Given the description of an element on the screen output the (x, y) to click on. 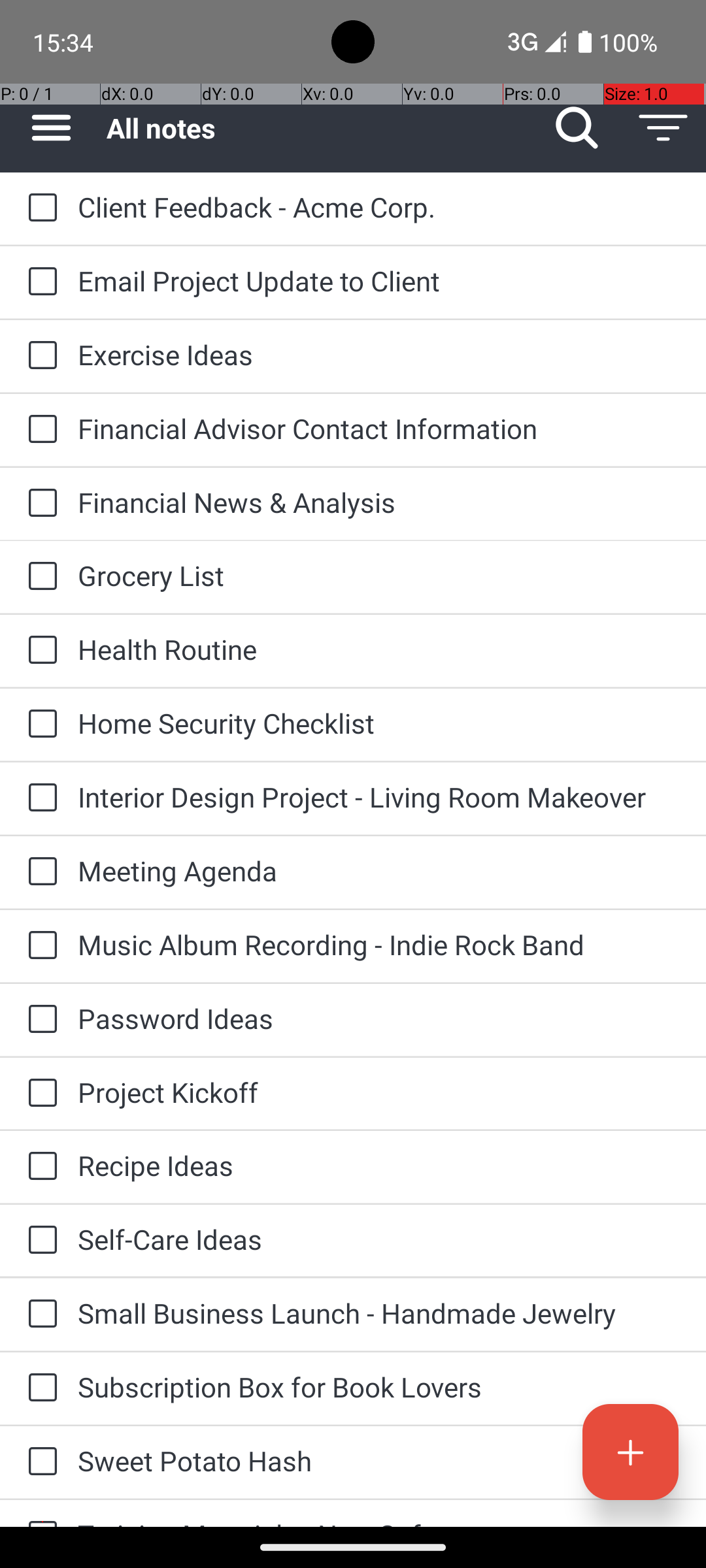
to-do: Client Feedback - Acme Corp. Element type: android.widget.CheckBox (38, 208)
Client Feedback - Acme Corp. Element type: android.widget.TextView (378, 206)
to-do: Email Project Update to Client Element type: android.widget.CheckBox (38, 282)
Email Project Update to Client Element type: android.widget.TextView (378, 280)
to-do: Exercise Ideas Element type: android.widget.CheckBox (38, 356)
Exercise Ideas Element type: android.widget.TextView (378, 354)
to-do: Financial Advisor Contact Information Element type: android.widget.CheckBox (38, 429)
Financial Advisor Contact Information Element type: android.widget.TextView (378, 427)
to-do: Financial News & Analysis Element type: android.widget.CheckBox (38, 503)
Financial News & Analysis Element type: android.widget.TextView (378, 501)
to-do: Grocery List Element type: android.widget.CheckBox (38, 576)
Grocery List Element type: android.widget.TextView (378, 574)
to-do: Health Routine Element type: android.widget.CheckBox (38, 650)
Health Routine Element type: android.widget.TextView (378, 648)
to-do: Home Security Checklist Element type: android.widget.CheckBox (38, 724)
Home Security Checklist Element type: android.widget.TextView (378, 722)
to-do: Interior Design Project - Living Room Makeover Element type: android.widget.CheckBox (38, 798)
Interior Design Project - Living Room Makeover Element type: android.widget.TextView (378, 796)
to-do: Meeting Agenda Element type: android.widget.CheckBox (38, 872)
Meeting Agenda Element type: android.widget.TextView (378, 870)
to-do: Music Album Recording - Indie Rock Band Element type: android.widget.CheckBox (38, 945)
Music Album Recording - Indie Rock Band Element type: android.widget.TextView (378, 944)
to-do: Password Ideas Element type: android.widget.CheckBox (38, 1019)
Password Ideas Element type: android.widget.TextView (378, 1017)
to-do: Project Kickoff Element type: android.widget.CheckBox (38, 1093)
Project Kickoff Element type: android.widget.TextView (378, 1091)
to-do: Recipe Ideas Element type: android.widget.CheckBox (38, 1166)
Recipe Ideas Element type: android.widget.TextView (378, 1164)
to-do: Self-Care Ideas Element type: android.widget.CheckBox (38, 1240)
Self-Care Ideas Element type: android.widget.TextView (378, 1238)
to-do: Small Business Launch - Handmade Jewelry Element type: android.widget.CheckBox (38, 1314)
Small Business Launch - Handmade Jewelry Element type: android.widget.TextView (378, 1312)
to-do: Subscription Box for Book Lovers Element type: android.widget.CheckBox (38, 1388)
Subscription Box for Book Lovers Element type: android.widget.TextView (378, 1386)
to-do: Sweet Potato Hash Element type: android.widget.CheckBox (38, 1462)
Sweet Potato Hash Element type: android.widget.TextView (378, 1460)
to-do: Training Materials - New Software Element type: android.widget.CheckBox (38, 1513)
Training Materials - New Software Element type: android.widget.TextView (378, 1520)
